Given the description of an element on the screen output the (x, y) to click on. 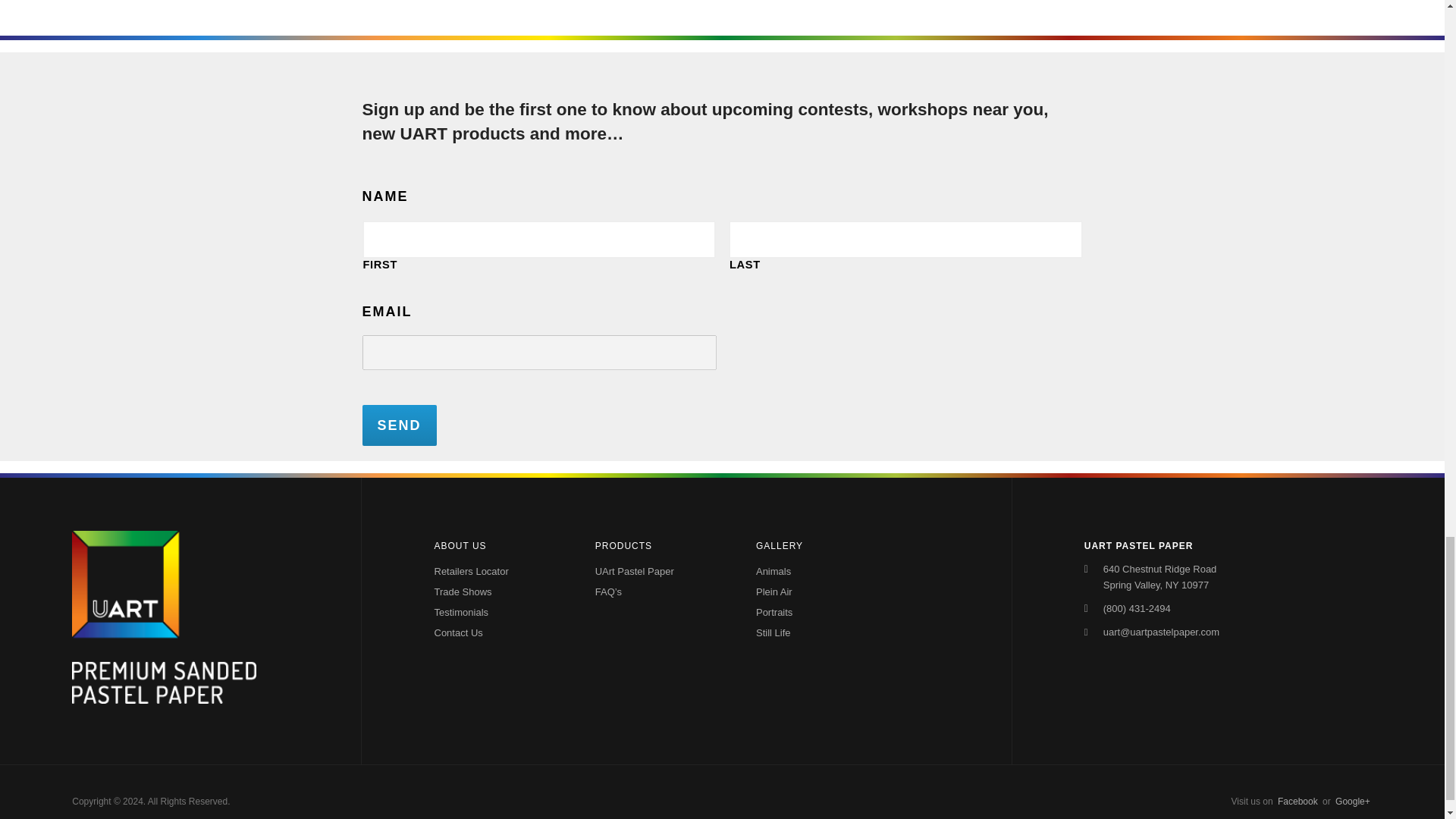
Send (399, 424)
Send (399, 424)
ABOUT US (496, 545)
Retailers Locator (496, 571)
PRODUCTS (657, 545)
UART Premium Sanded Pastel Paper (163, 698)
Contact Us (496, 632)
UArt Pastel Paper (636, 571)
Trade Shows (496, 591)
GALLERY (818, 545)
